Given the description of an element on the screen output the (x, y) to click on. 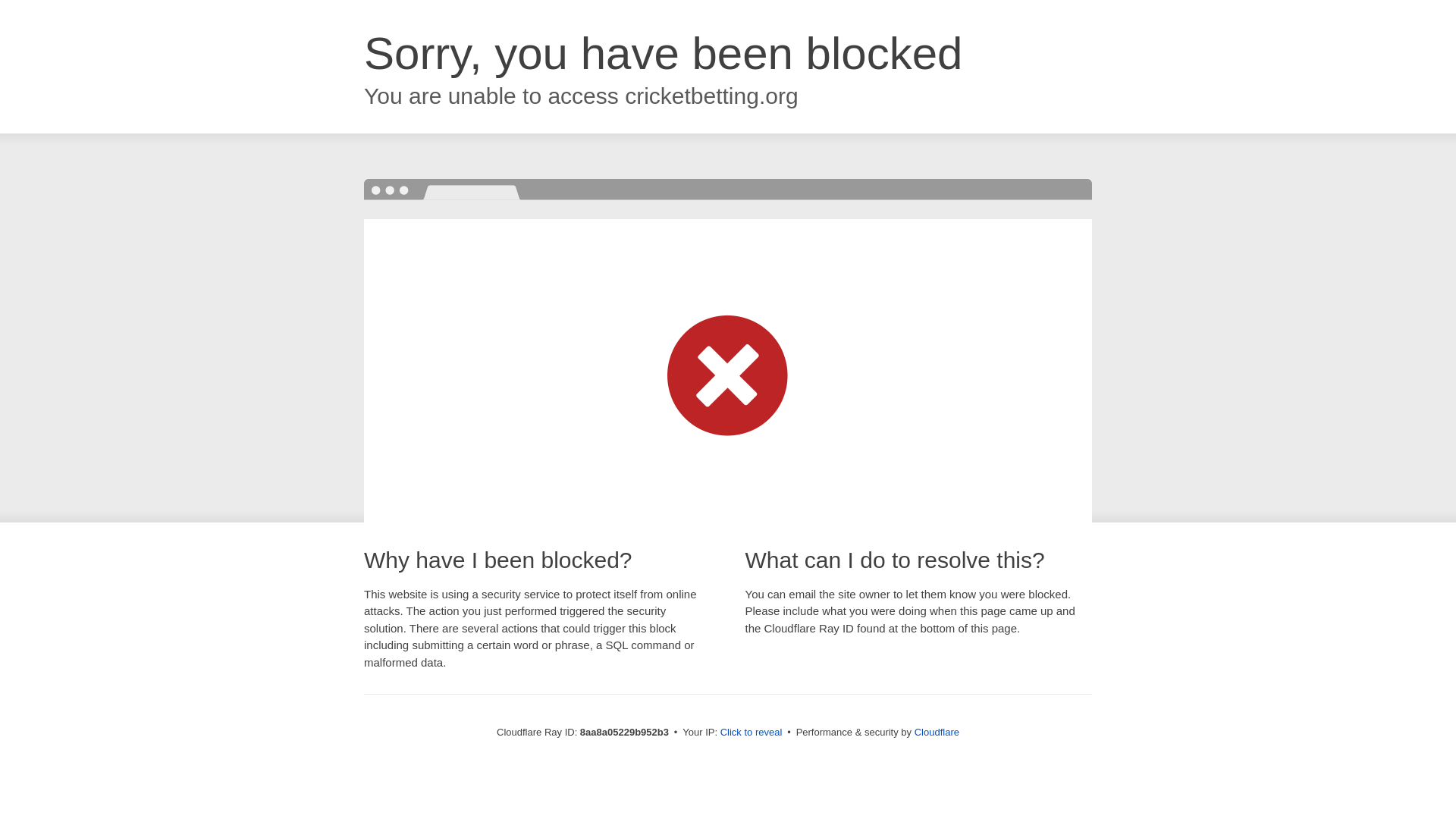
Click to reveal (751, 732)
Cloudflare (936, 731)
